Given the description of an element on the screen output the (x, y) to click on. 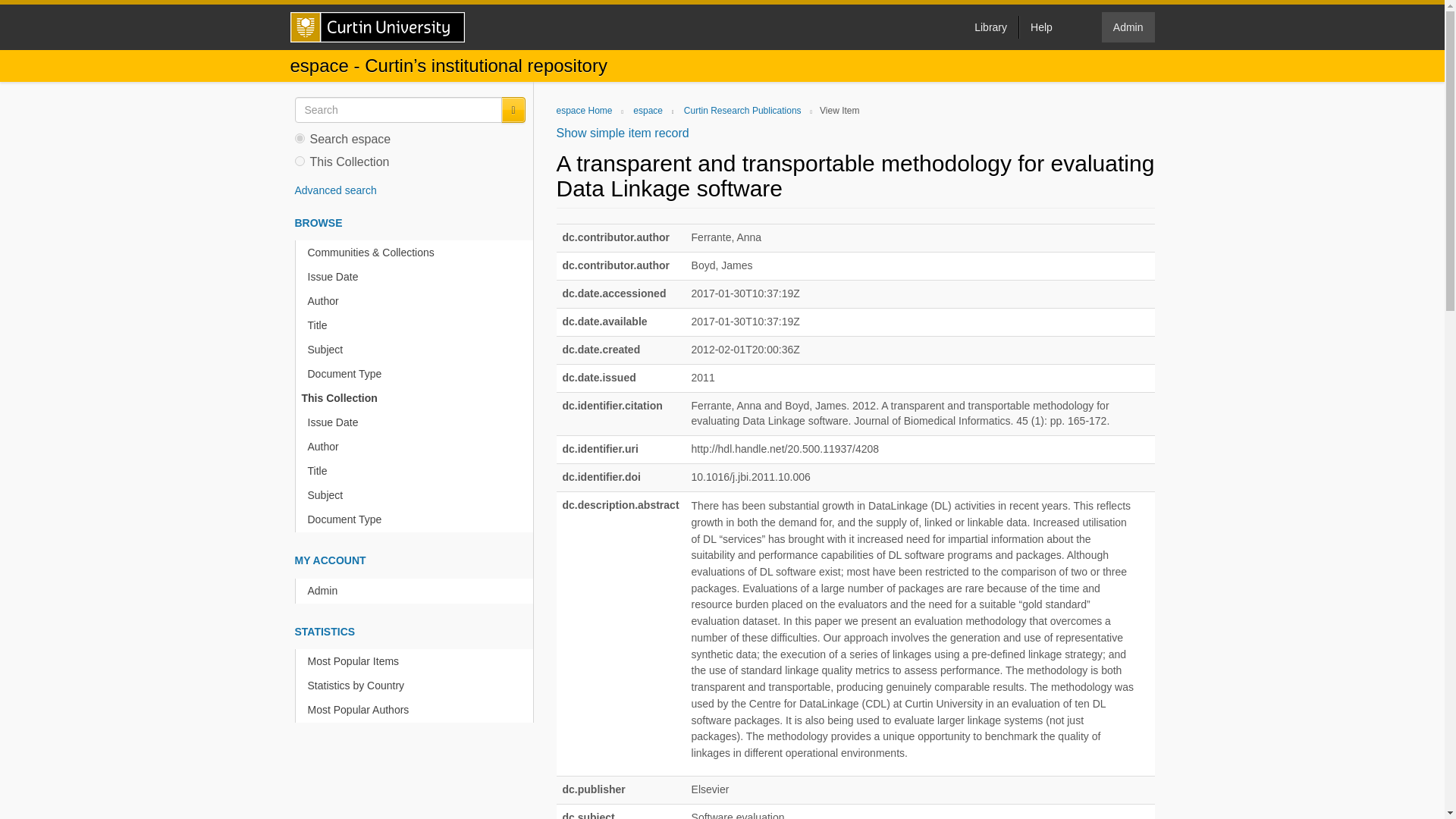
Document Type (416, 519)
Issue Date (416, 276)
Curtin University Homepage (376, 27)
This Collection (413, 398)
Author (416, 301)
Show simple item record (622, 132)
Title (416, 325)
Title (416, 471)
Curtin Research Publications (743, 110)
Document Type (416, 373)
espace (647, 110)
Library (989, 26)
Subject (416, 349)
Author (416, 446)
Subject (416, 495)
